Given the description of an element on the screen output the (x, y) to click on. 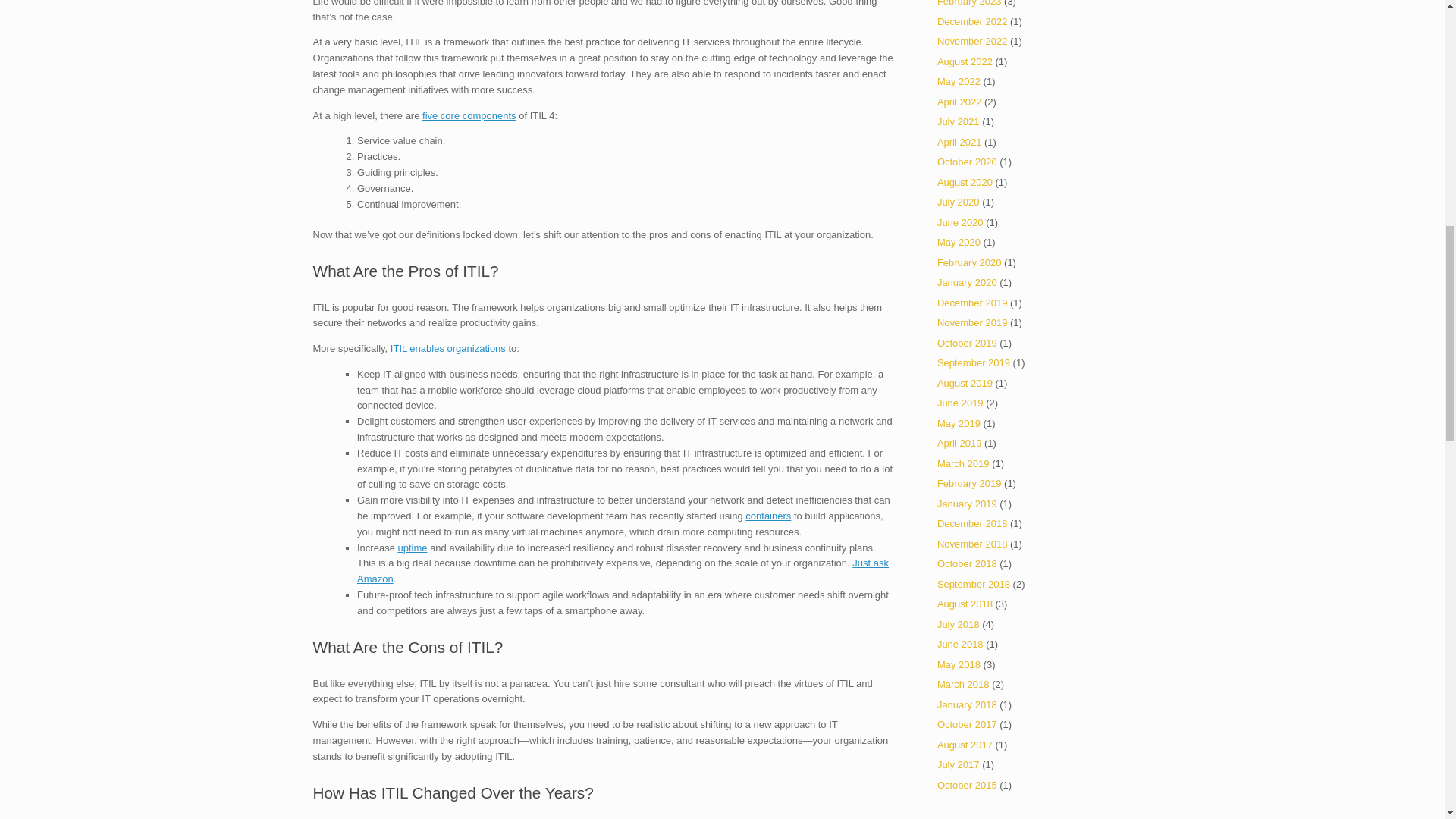
ITIL enables organizations (447, 348)
containers (767, 515)
uptime (411, 547)
Just ask Amazon (622, 570)
five core components (469, 115)
